Given the description of an element on the screen output the (x, y) to click on. 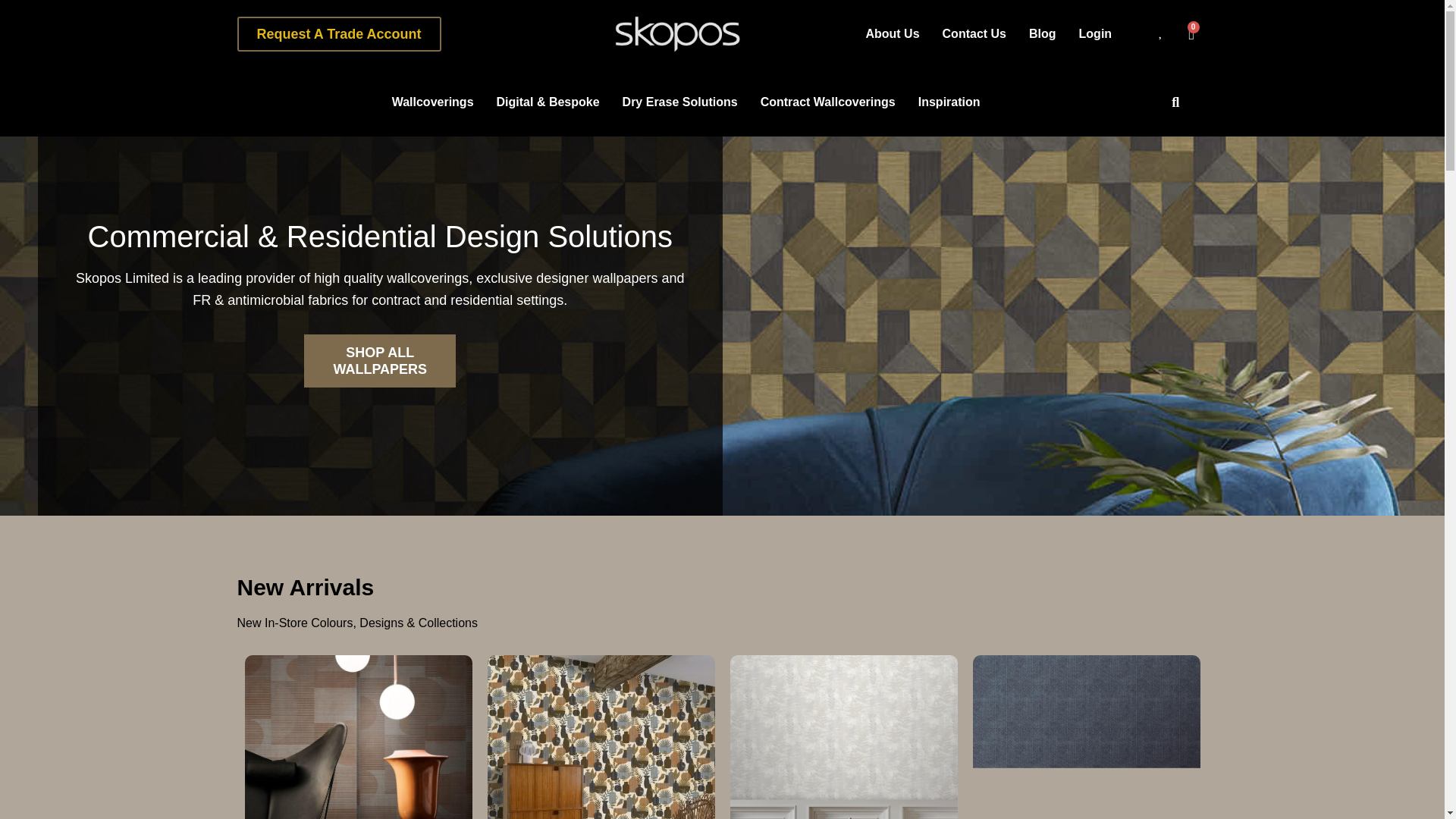
0 (1191, 34)
Contact Us (974, 33)
Contract Wallcoverings (827, 102)
About Us (891, 33)
Blog (1043, 33)
Login (1095, 33)
Inspiration (948, 102)
Wallcoverings (432, 102)
Dry Erase Solutions (680, 102)
Request A Trade Account (338, 33)
